Given the description of an element on the screen output the (x, y) to click on. 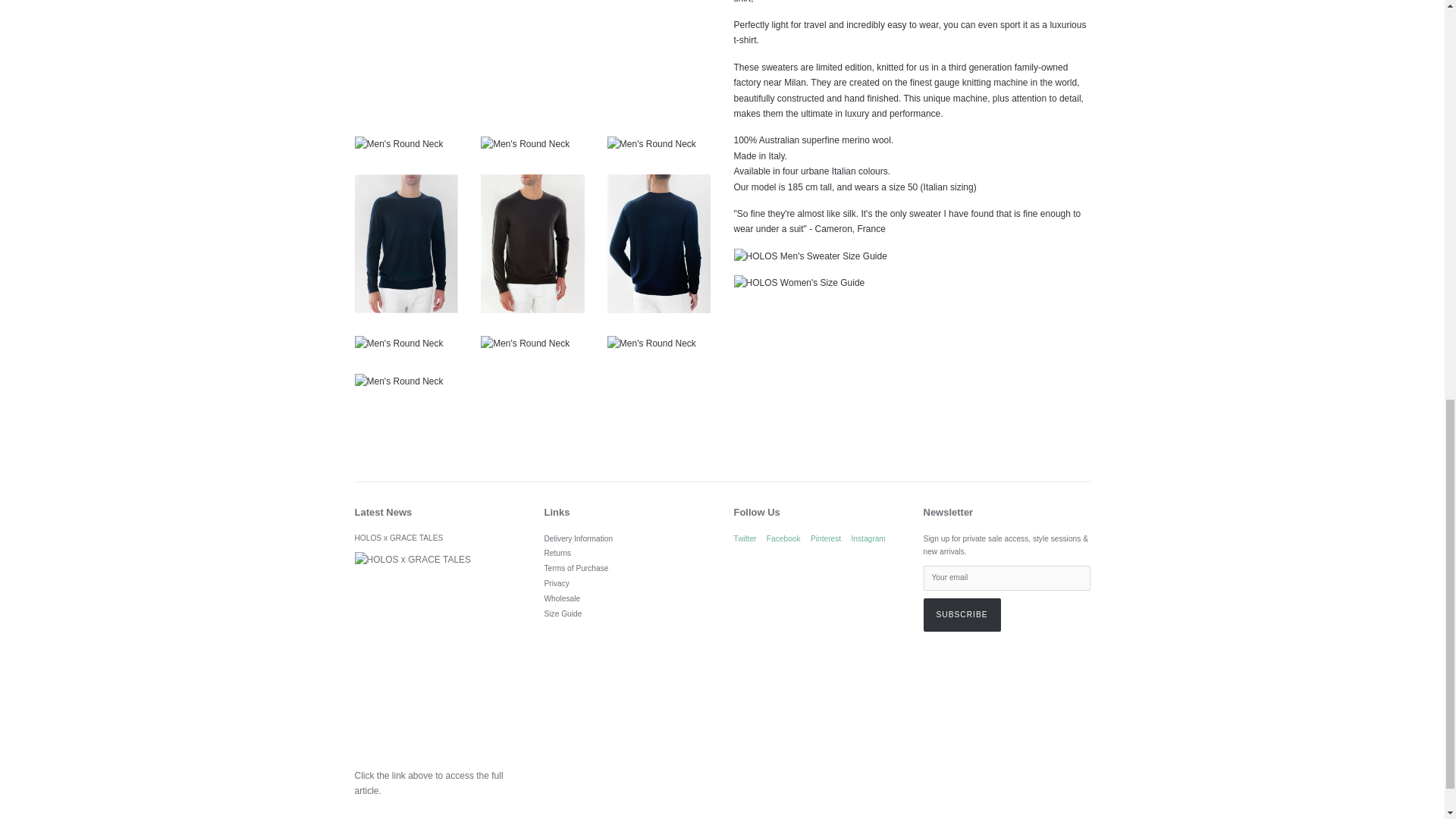
Subscribe (962, 614)
HOLOS Luxury Knitwear on Pinterest (825, 538)
HOLOS Luxury Knitwear on Facebook (783, 538)
HOLOS Luxury Knitwear on Instagram (867, 538)
HOLOS Luxury Knitwear on Twitter (745, 538)
